Given the description of an element on the screen output the (x, y) to click on. 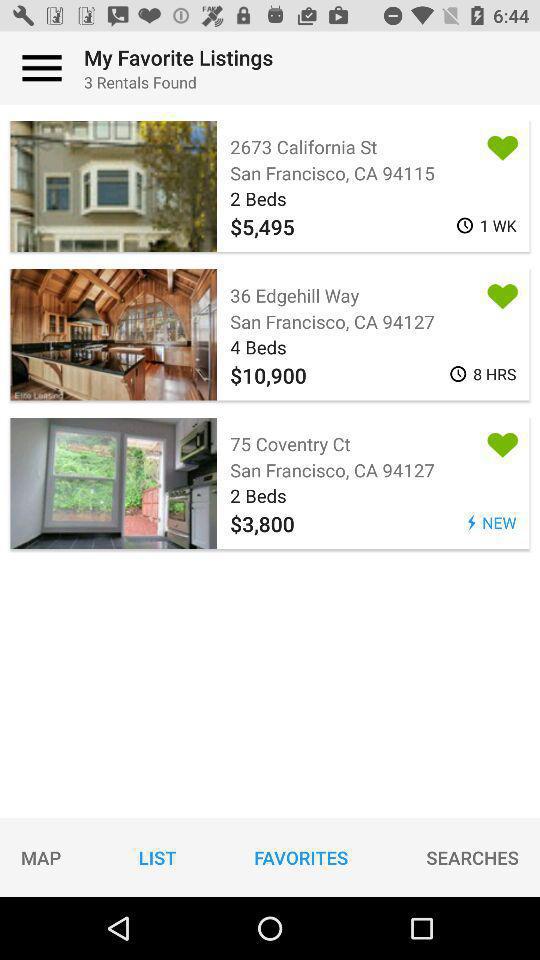
choose item next to map icon (157, 857)
